Given the description of an element on the screen output the (x, y) to click on. 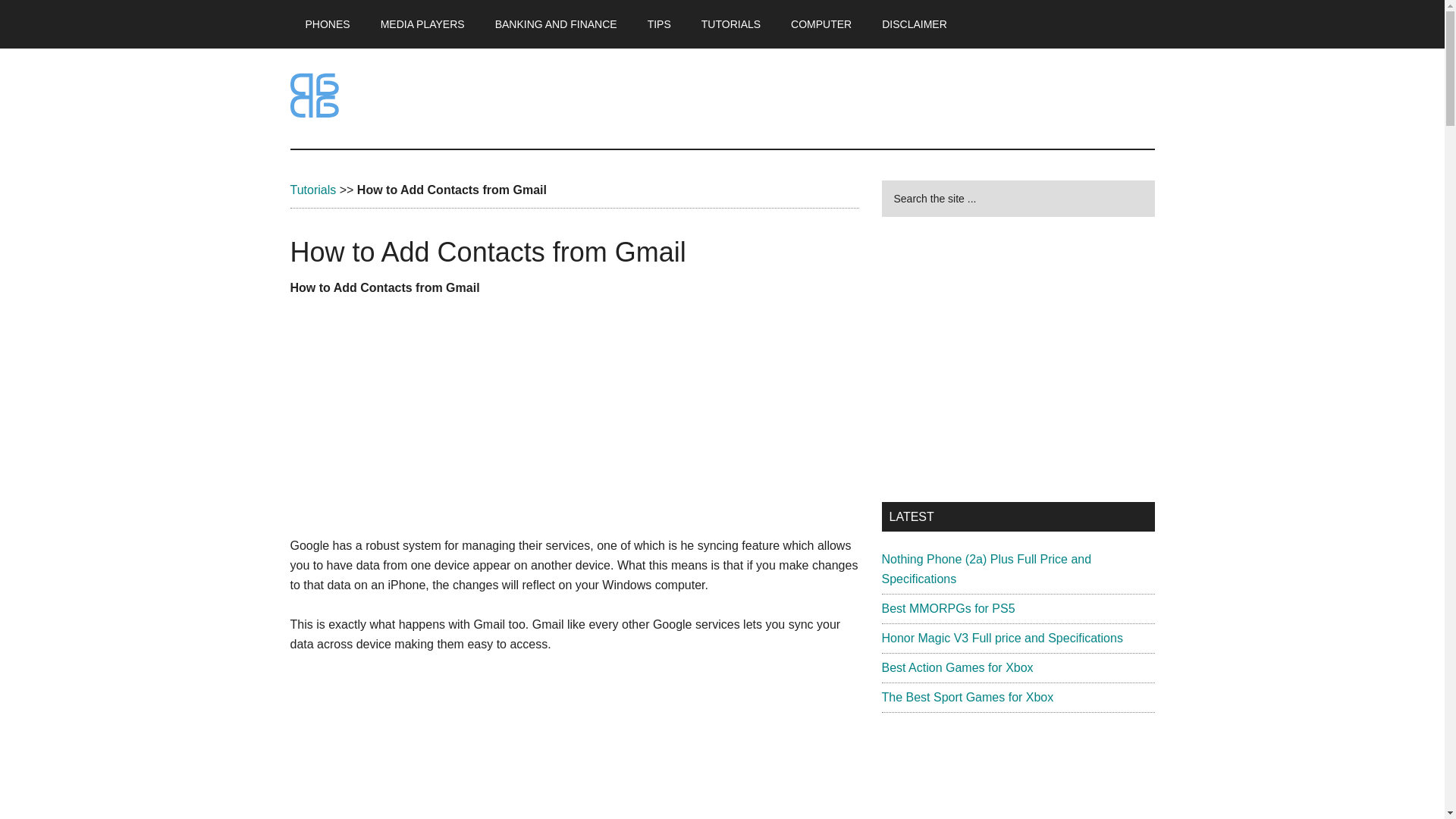
Advertisement (574, 423)
Tutorials (312, 189)
TUTORIALS (730, 24)
TIPS (658, 24)
MEDIA PLAYERS (422, 24)
Advertisement (574, 746)
PHONES (327, 24)
Advertisement (1017, 359)
COMPUTER (821, 24)
DISCLAIMER (914, 24)
BANKING AND FINANCE (555, 24)
